Given the description of an element on the screen output the (x, y) to click on. 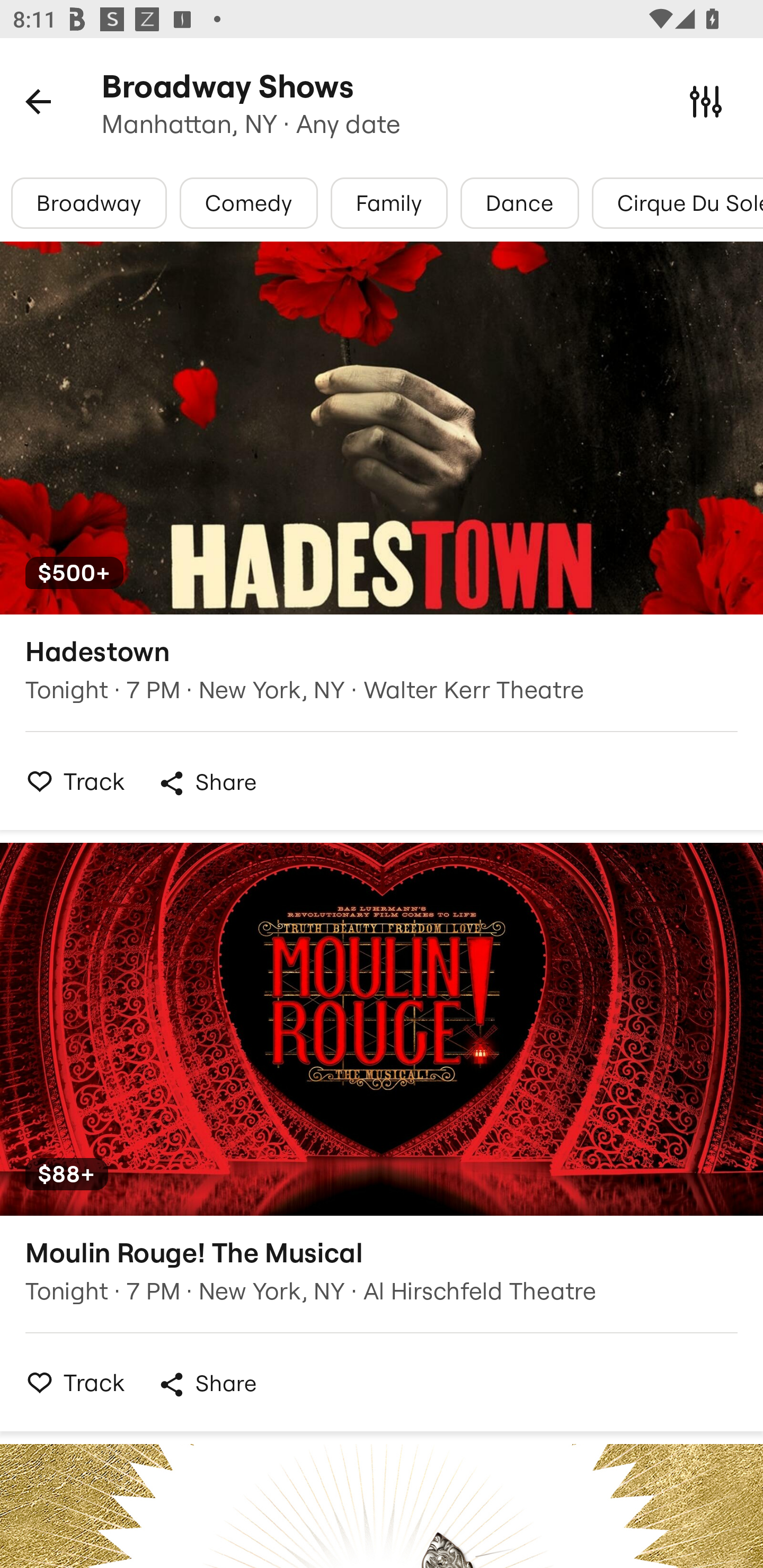
Back (38, 100)
Filters (705, 100)
Broadway (89, 202)
Comedy (248, 202)
Family (388, 202)
Dance (519, 202)
Cirque Du Soleil (677, 202)
Track (70, 780)
Share (207, 783)
Track (70, 1381)
Share (207, 1384)
